Given the description of an element on the screen output the (x, y) to click on. 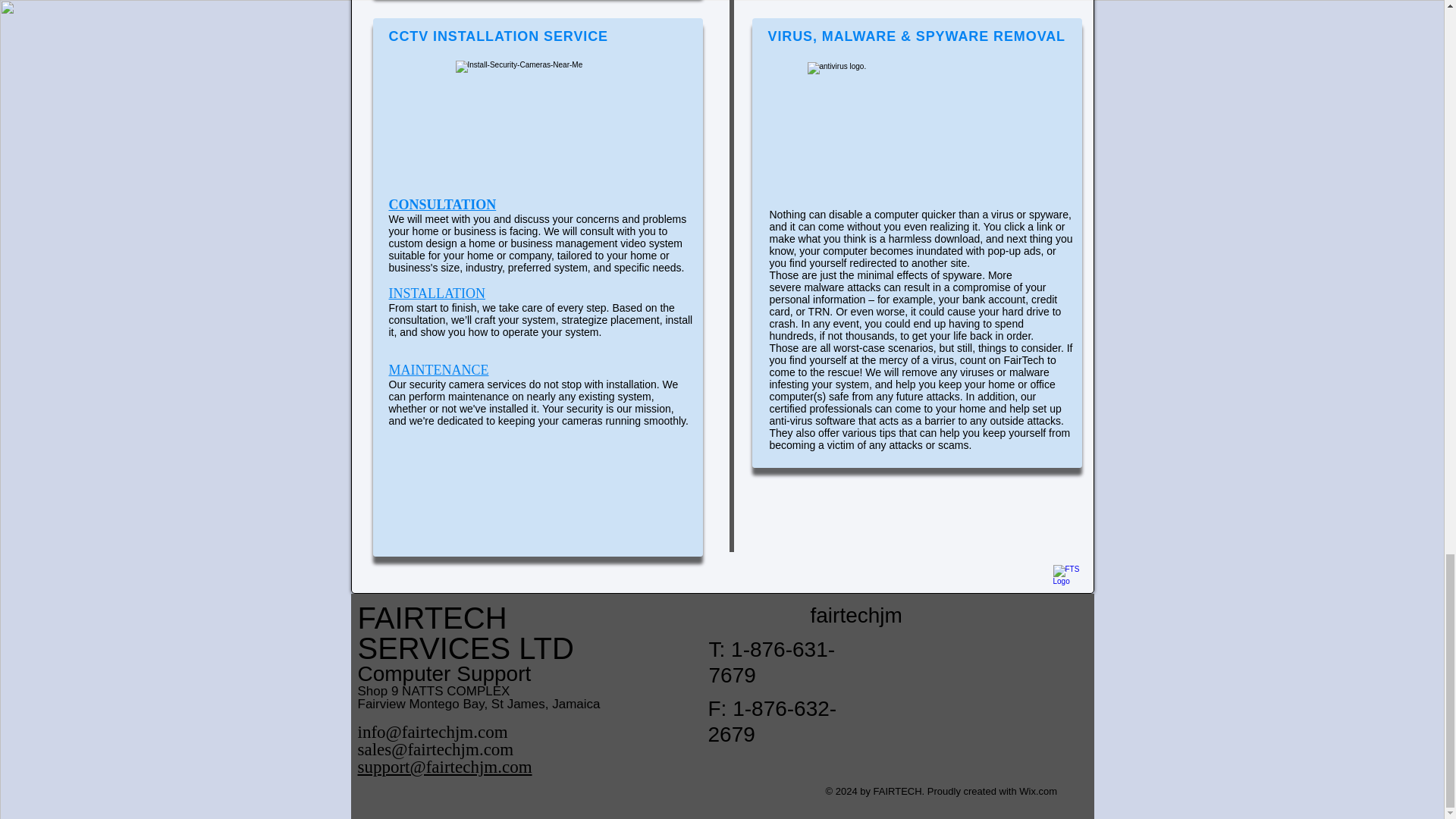
FTS LOGO2014A.png (1066, 579)
Wix.com (1038, 790)
